Given the description of an element on the screen output the (x, y) to click on. 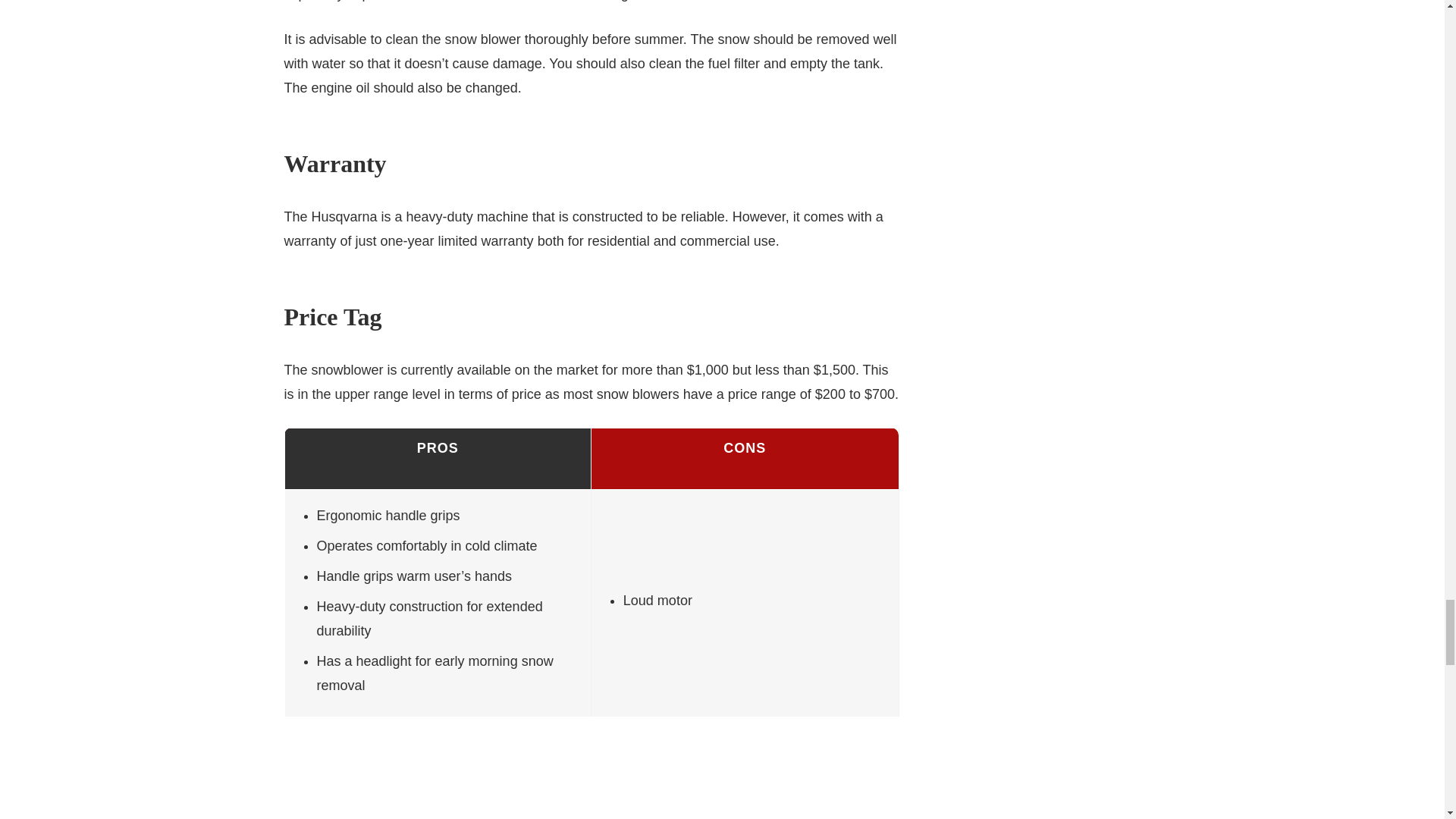
YouTube video player (590, 796)
